Given the description of an element on the screen output the (x, y) to click on. 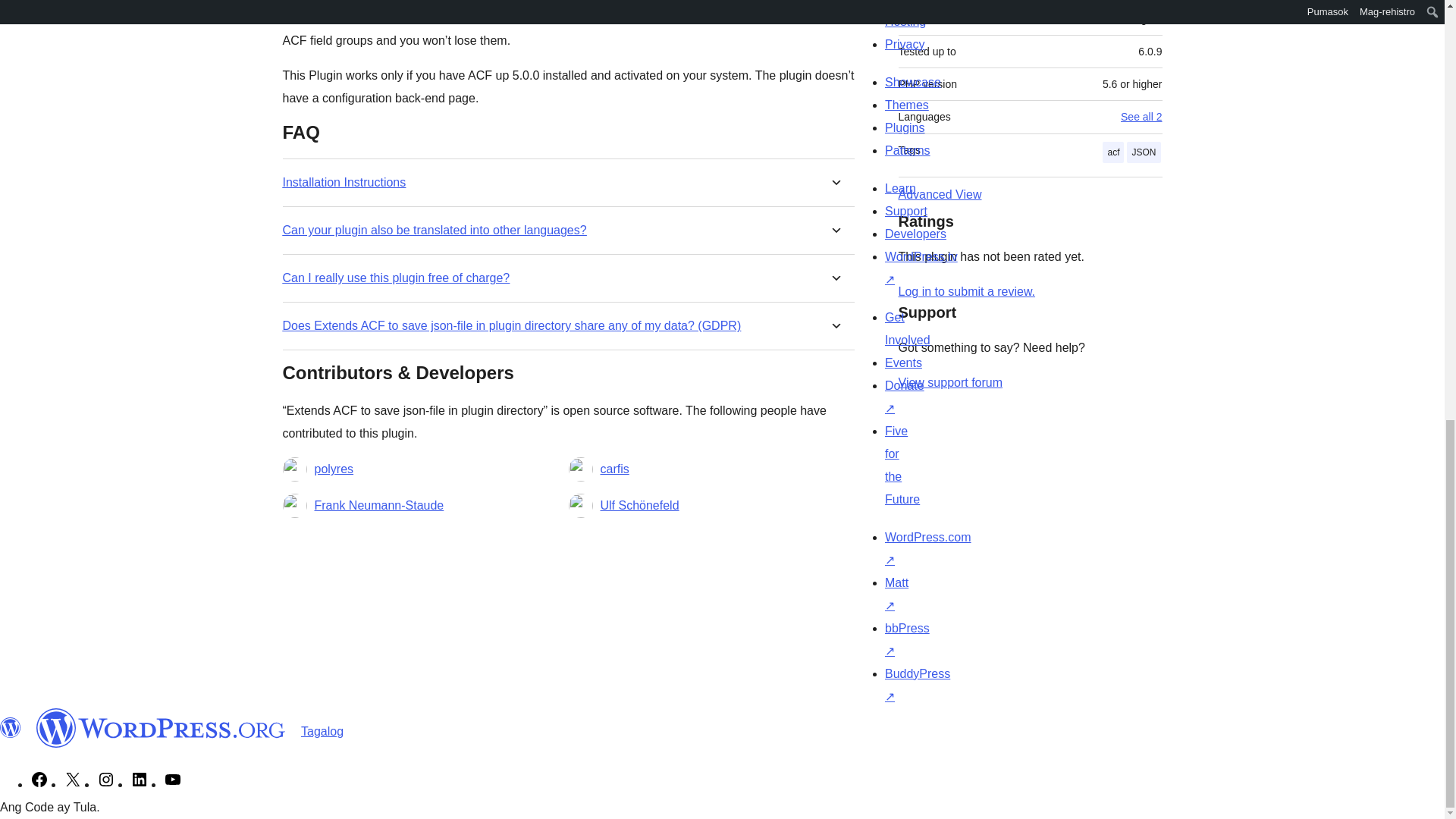
Can I really use this plugin free of charge? (395, 278)
Log in to WordPress.org (966, 291)
WordPress.org (160, 727)
WordPress.org (10, 727)
Can your plugin also be translated into other languages? (434, 229)
Installation Instructions (344, 182)
